Given the description of an element on the screen output the (x, y) to click on. 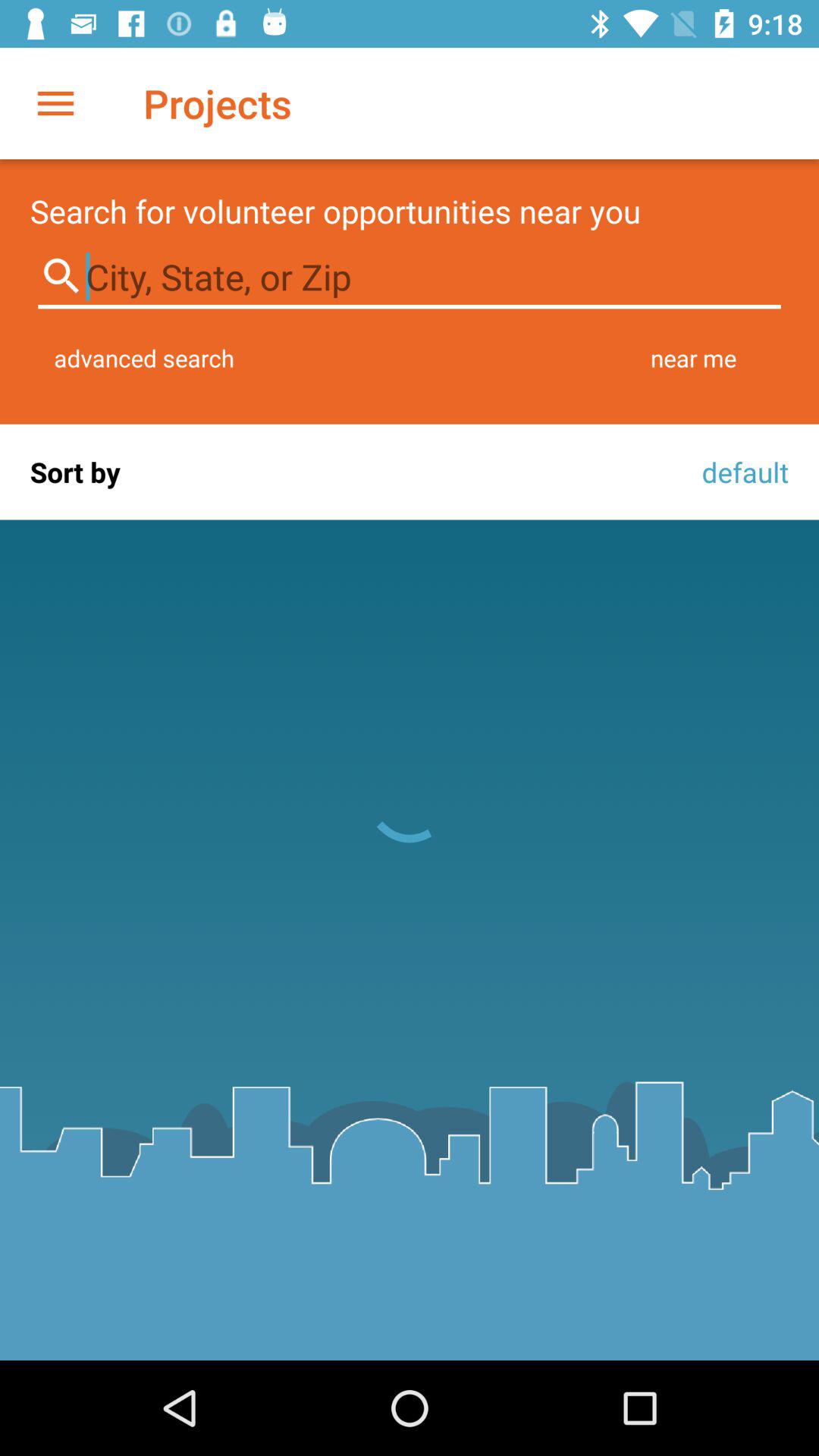
jump until the near me item (692, 358)
